Given the description of an element on the screen output the (x, y) to click on. 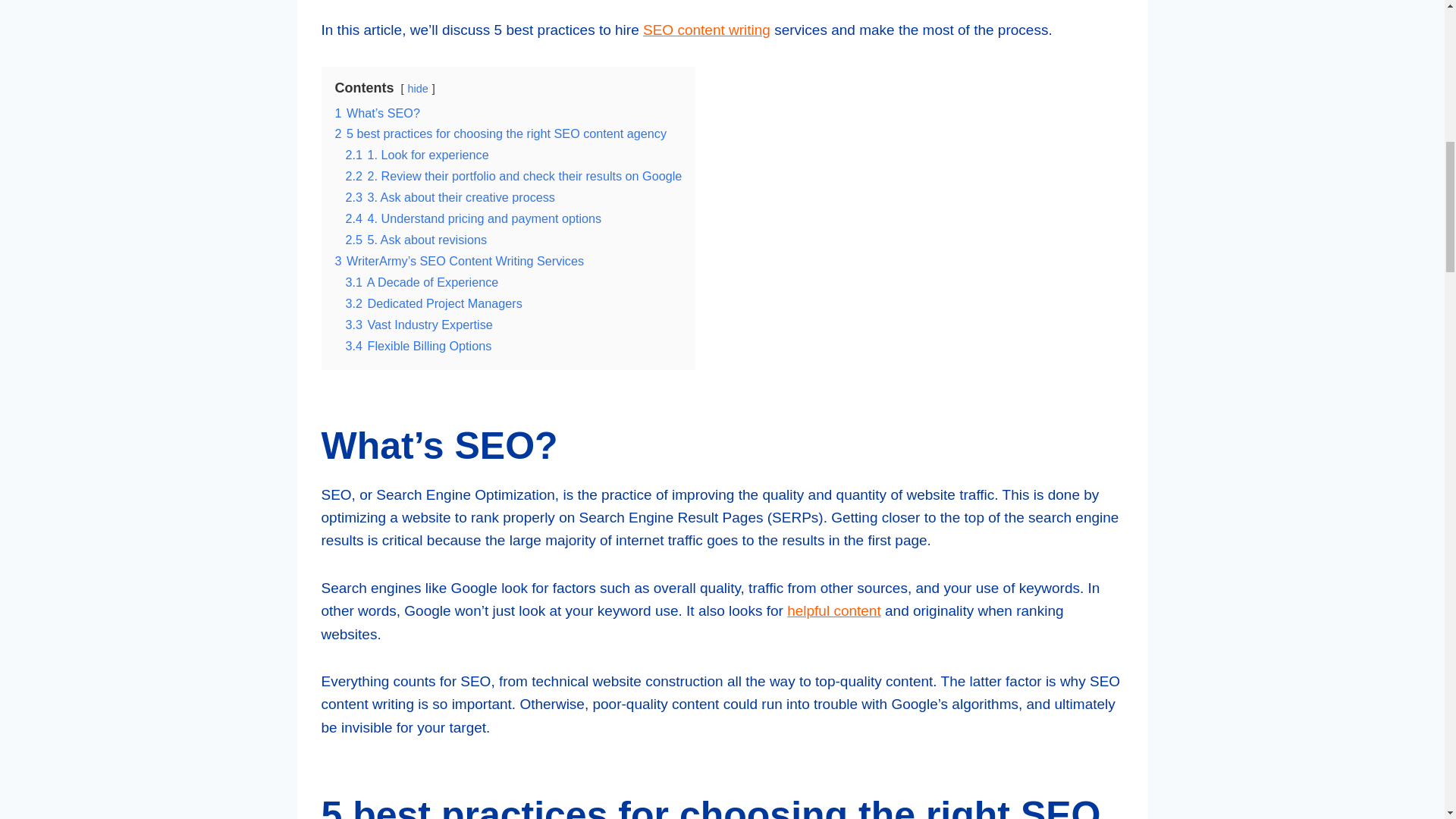
2.3 3. Ask about their creative process (450, 196)
2 5 best practices for choosing the right SEO content agency (500, 133)
2.1 1. Look for experience (417, 154)
hide (417, 88)
2.5 5. Ask about revisions (416, 239)
2.4 4. Understand pricing and payment options (474, 218)
3.1 A Decade of Experience (422, 282)
SEO content writing (706, 29)
3.2 Dedicated Project Managers (434, 303)
